Given the description of an element on the screen output the (x, y) to click on. 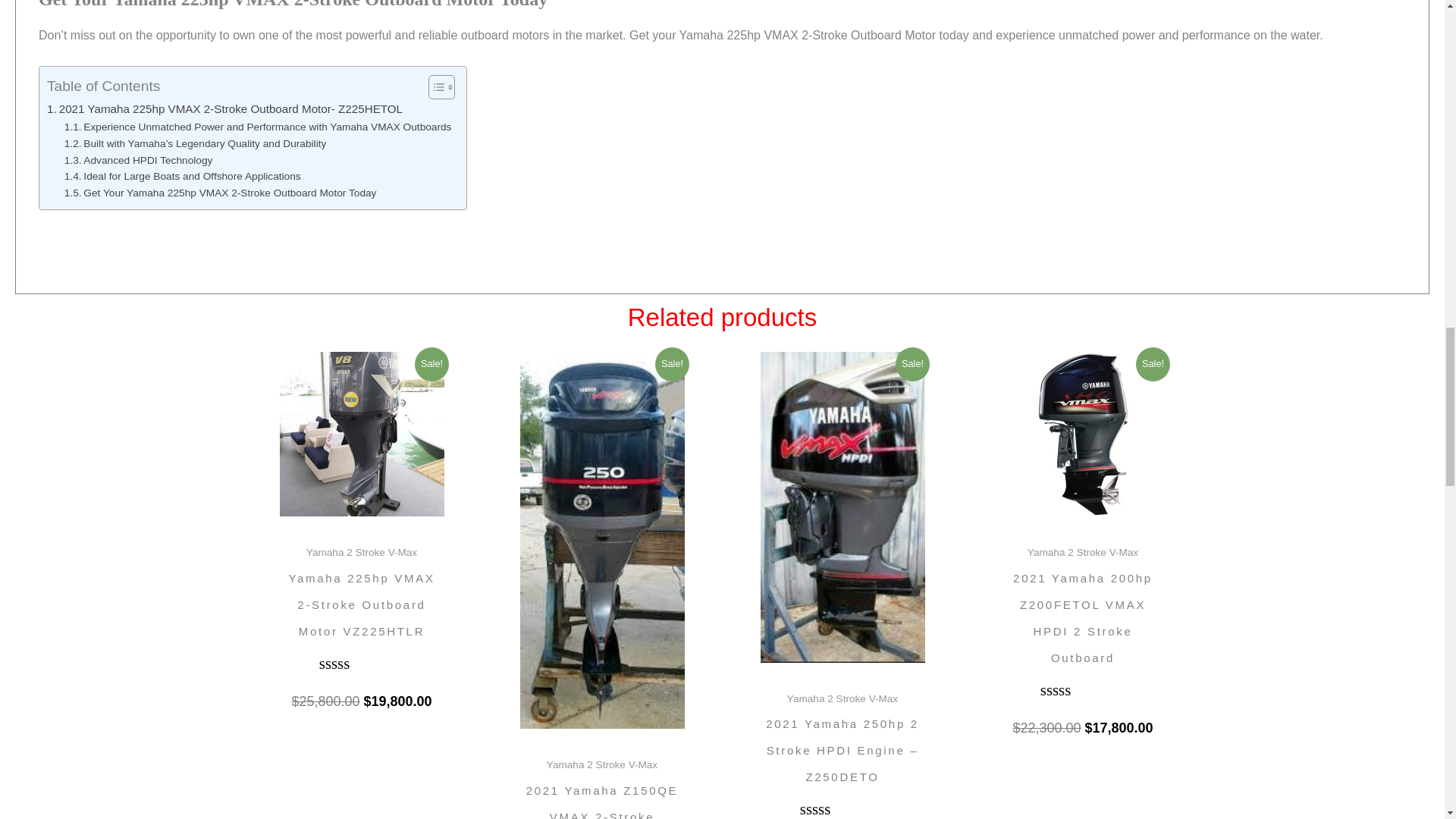
Ideal for Large Boats and Offshore Applications (182, 176)
Ideal for Large Boats and Offshore Applications (182, 176)
2021 Yamaha 225hp VMAX 2-Stroke Outboard Motor- Z225HETOL (224, 108)
Get Your Yamaha 225hp VMAX 2-Stroke Outboard Motor Today (220, 193)
Advanced HPDI Technology (138, 160)
2021 Yamaha 225hp VMAX 2-Stroke Outboard Motor- Z225HETOL (224, 108)
Advanced HPDI Technology (138, 160)
Get Your Yamaha 225hp VMAX 2-Stroke Outboard Motor Today (220, 193)
